Given the description of an element on the screen output the (x, y) to click on. 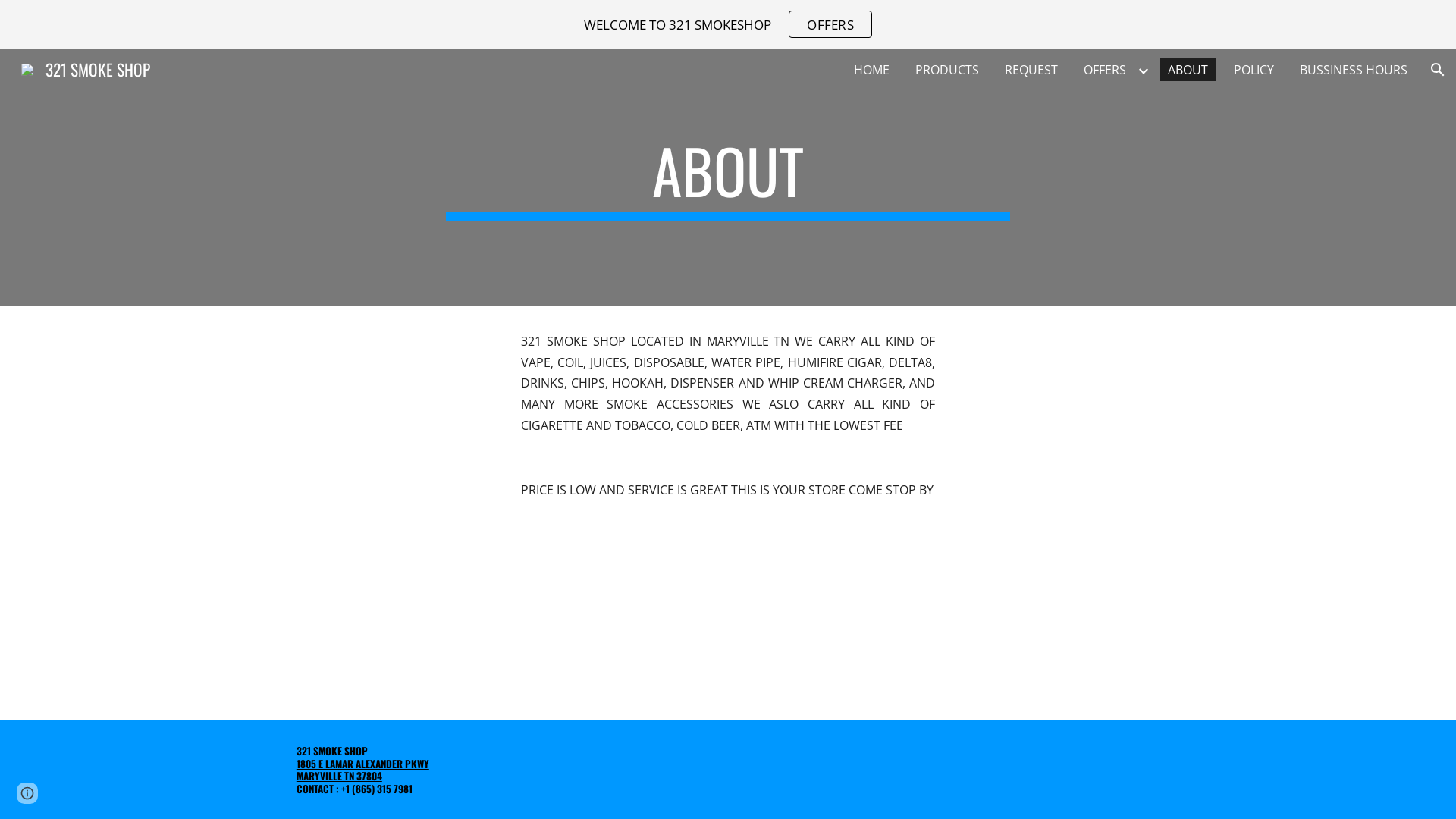
POLICY Element type: text (1253, 69)
BUSSINESS HOURS Element type: text (1353, 69)
OFFERS Element type: text (1104, 69)
MARYVILLE TN 37804 Element type: text (339, 775)
PRODUCTS Element type: text (946, 69)
1805 E LAMAR ALEXANDER PKWY Element type: text (362, 763)
321 SMOKE SHOP Element type: text (85, 66)
REQUEST Element type: text (1031, 69)
HOME Element type: text (871, 69)
OFFERS Element type: text (830, 24)
Expand/Collapse Element type: hover (1142, 69)
ABOUT Element type: text (1187, 69)
